Given the description of an element on the screen output the (x, y) to click on. 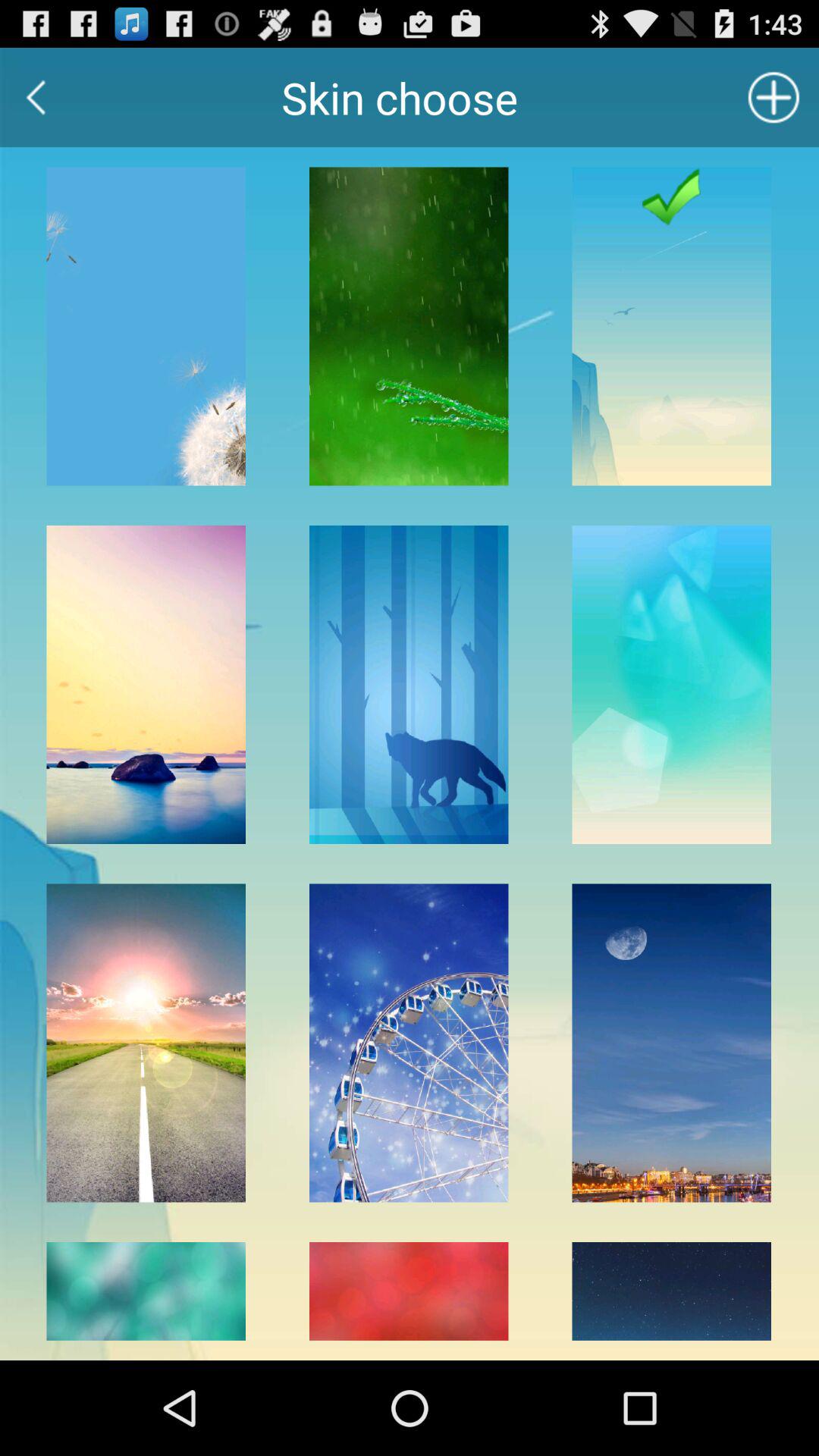
click the item next to skin choose item (35, 97)
